Given the description of an element on the screen output the (x, y) to click on. 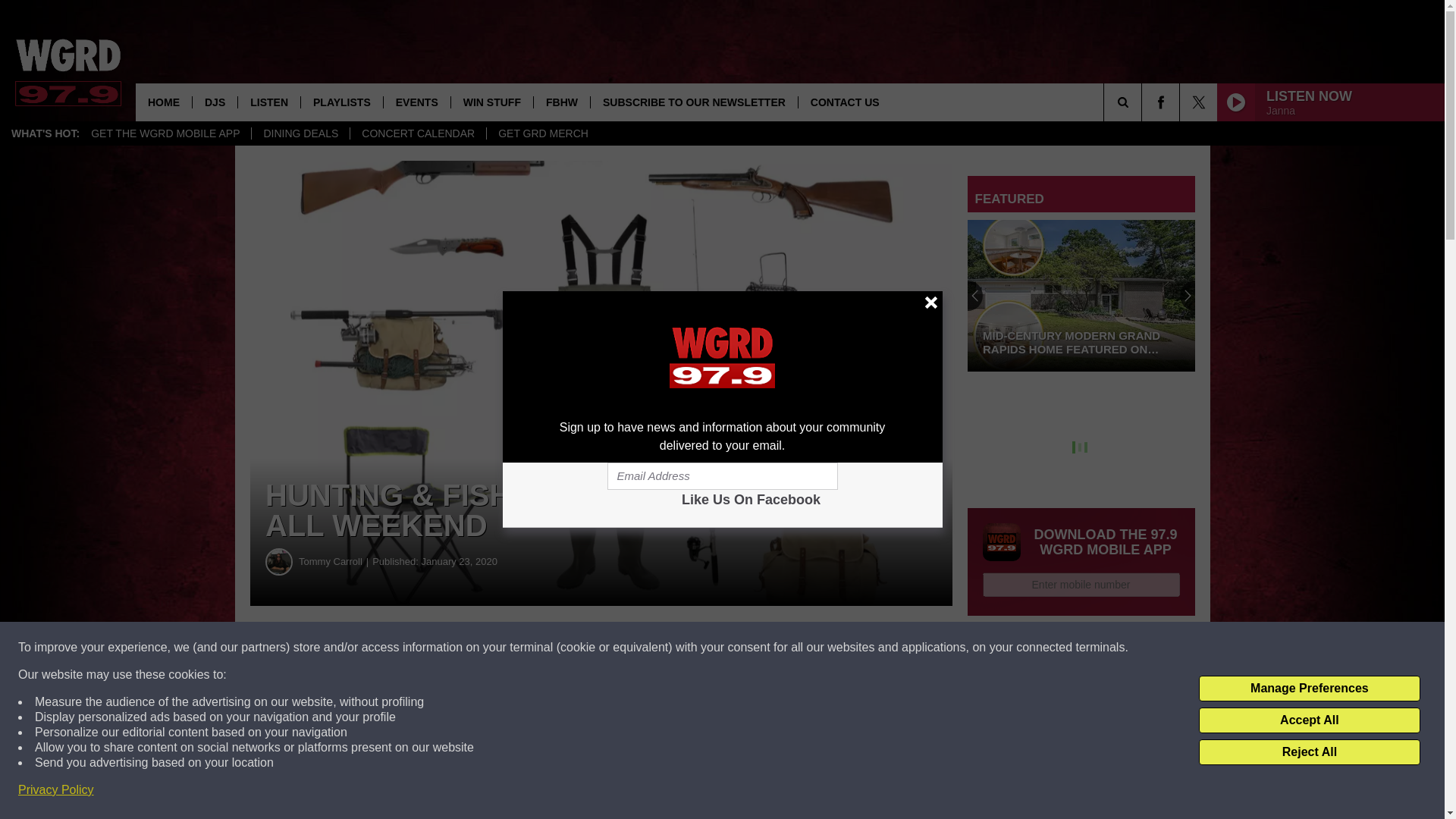
Reject All (1309, 751)
Manage Preferences (1309, 688)
LISTEN (268, 102)
Share on Twitter (741, 647)
FBHW (560, 102)
Share on Facebook (460, 647)
PLAYLISTS (340, 102)
Email Address (722, 475)
SEARCH (1144, 102)
CONTACT US (844, 102)
HOME (163, 102)
GET THE WGRD MOBILE APP (165, 133)
SEARCH (1144, 102)
CONCERT CALENDAR (417, 133)
EVENTS (415, 102)
